Given the description of an element on the screen output the (x, y) to click on. 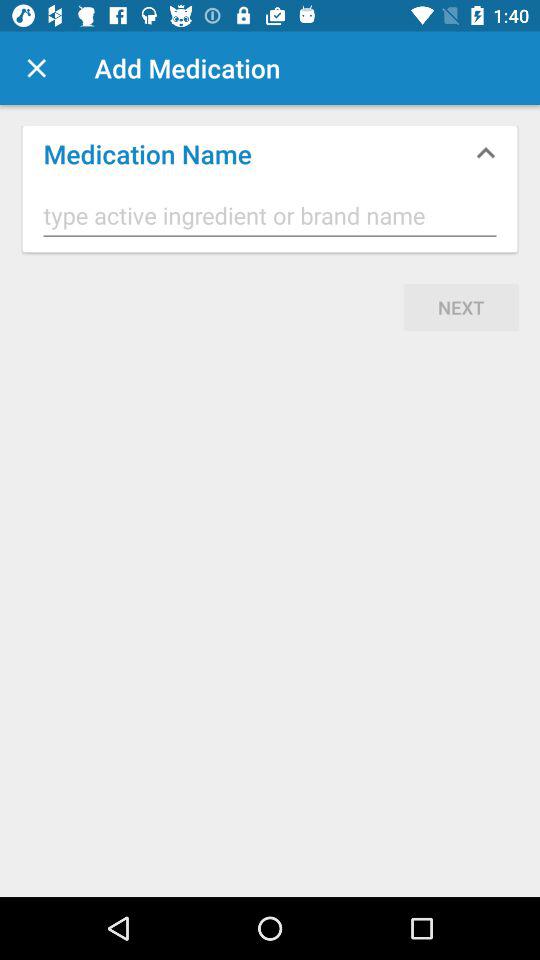
open the icon at the top left corner (36, 68)
